Given the description of an element on the screen output the (x, y) to click on. 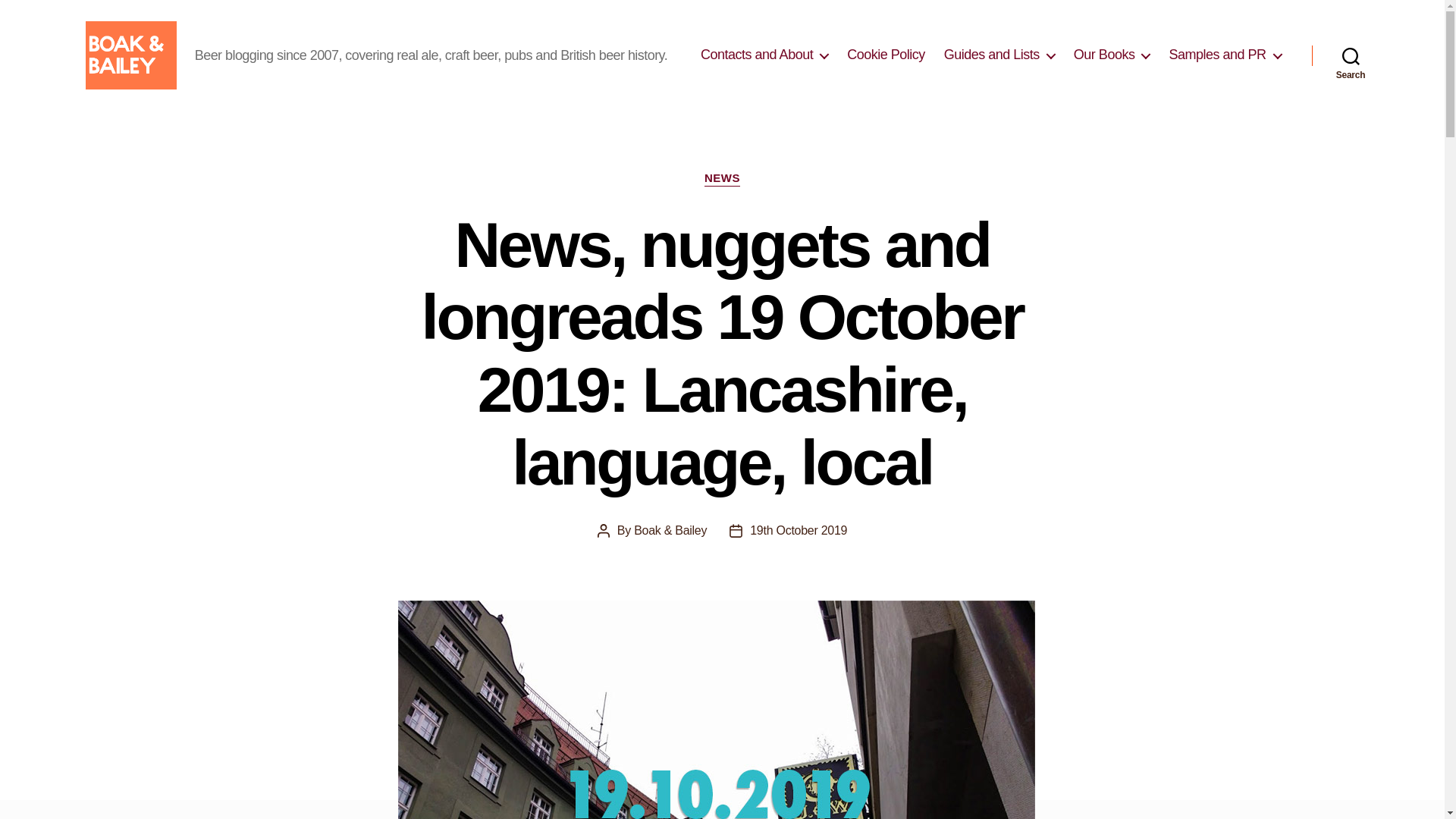
Contacts and About (764, 54)
Cookie Policy (885, 54)
Search (1350, 55)
Samples and PR (1225, 54)
Guides and Lists (998, 54)
Our Books (1112, 54)
